Given the description of an element on the screen output the (x, y) to click on. 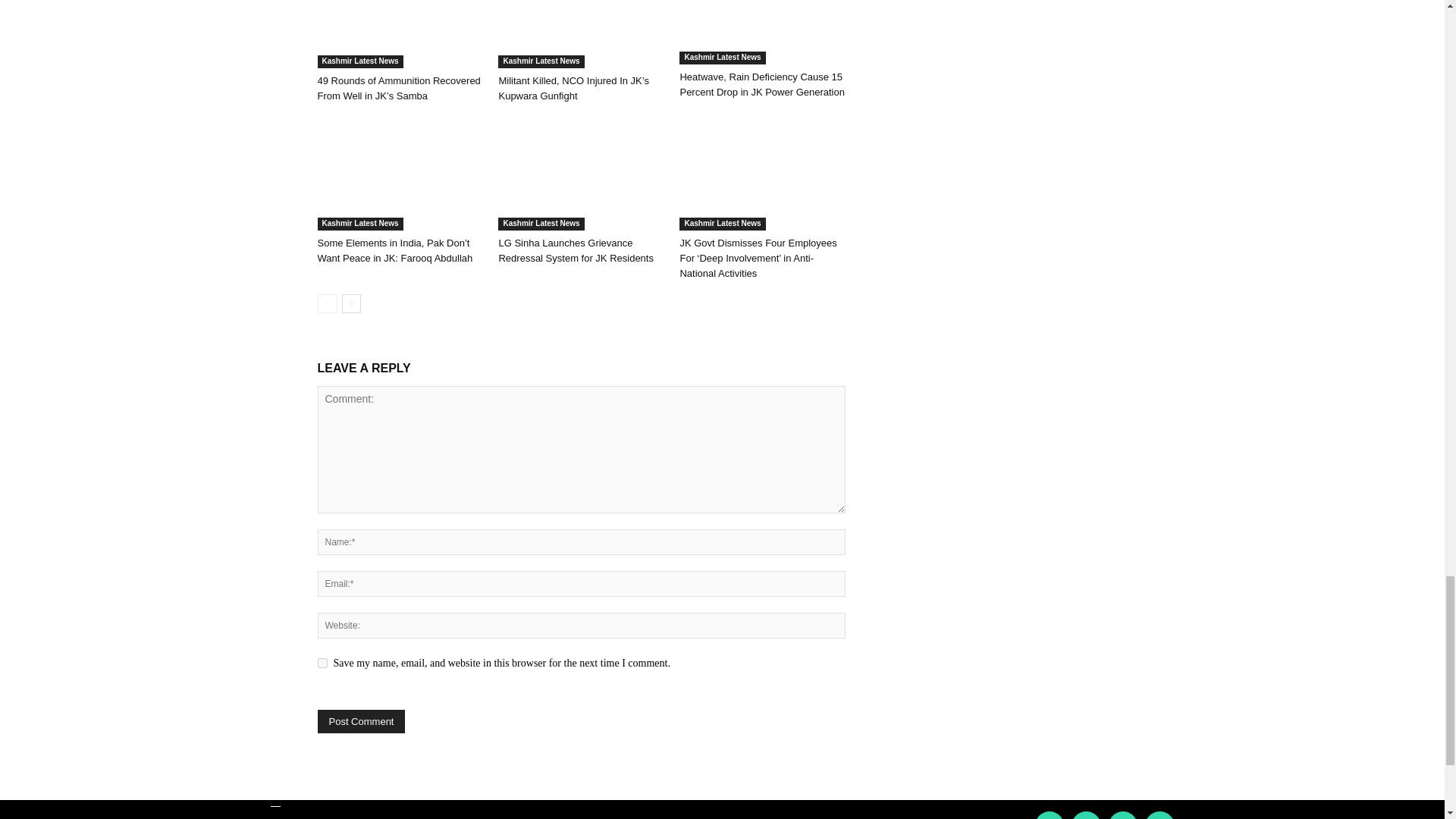
yes (321, 663)
Post Comment (360, 721)
